Given the description of an element on the screen output the (x, y) to click on. 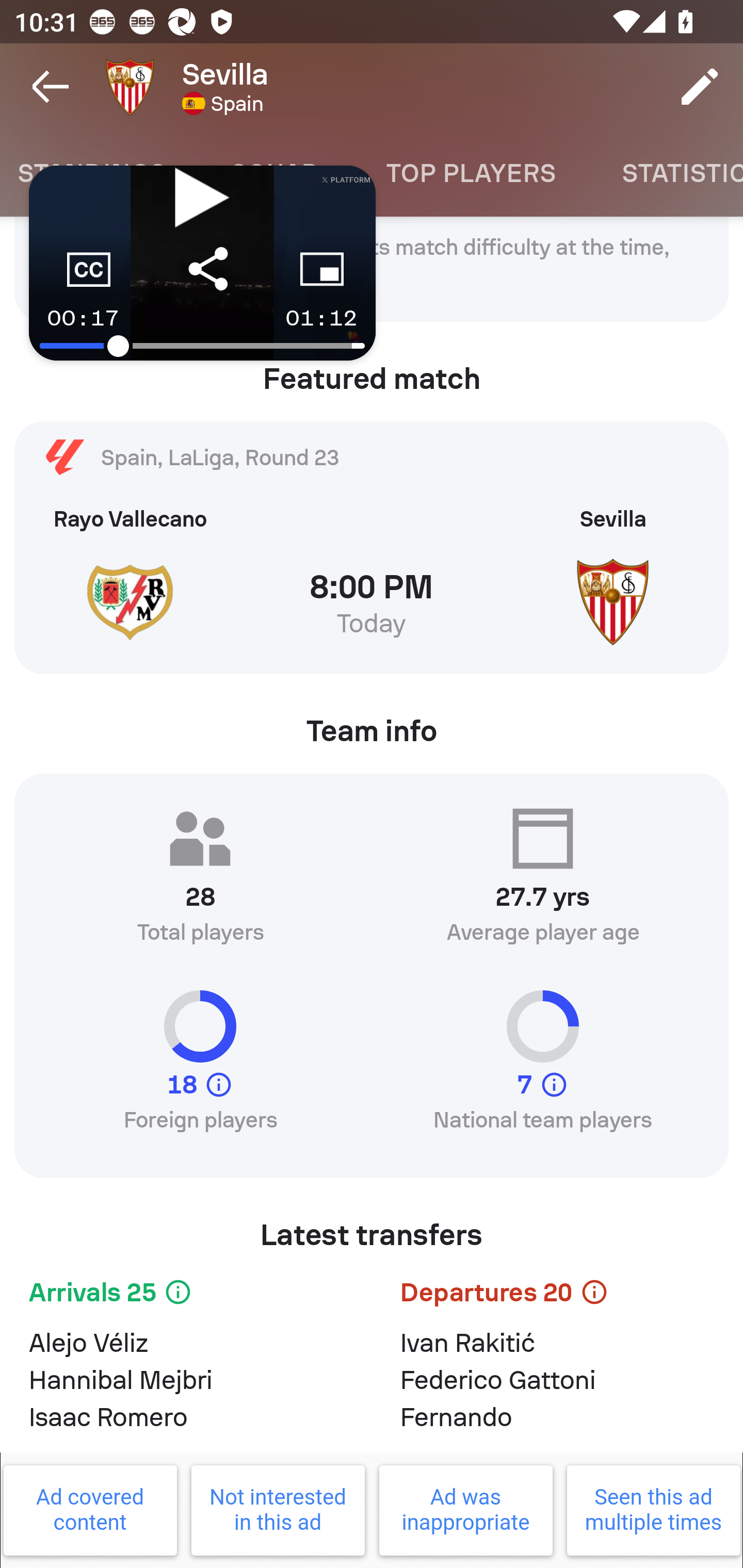
Navigate up (50, 86)
Edit (699, 86)
Top players TOP PLAYERS (471, 173)
18 Foreign players (199, 1069)
7 National team players (542, 1069)
Arrivals 25 (185, 1295)
Departures 20 (557, 1295)
